Given the description of an element on the screen output the (x, y) to click on. 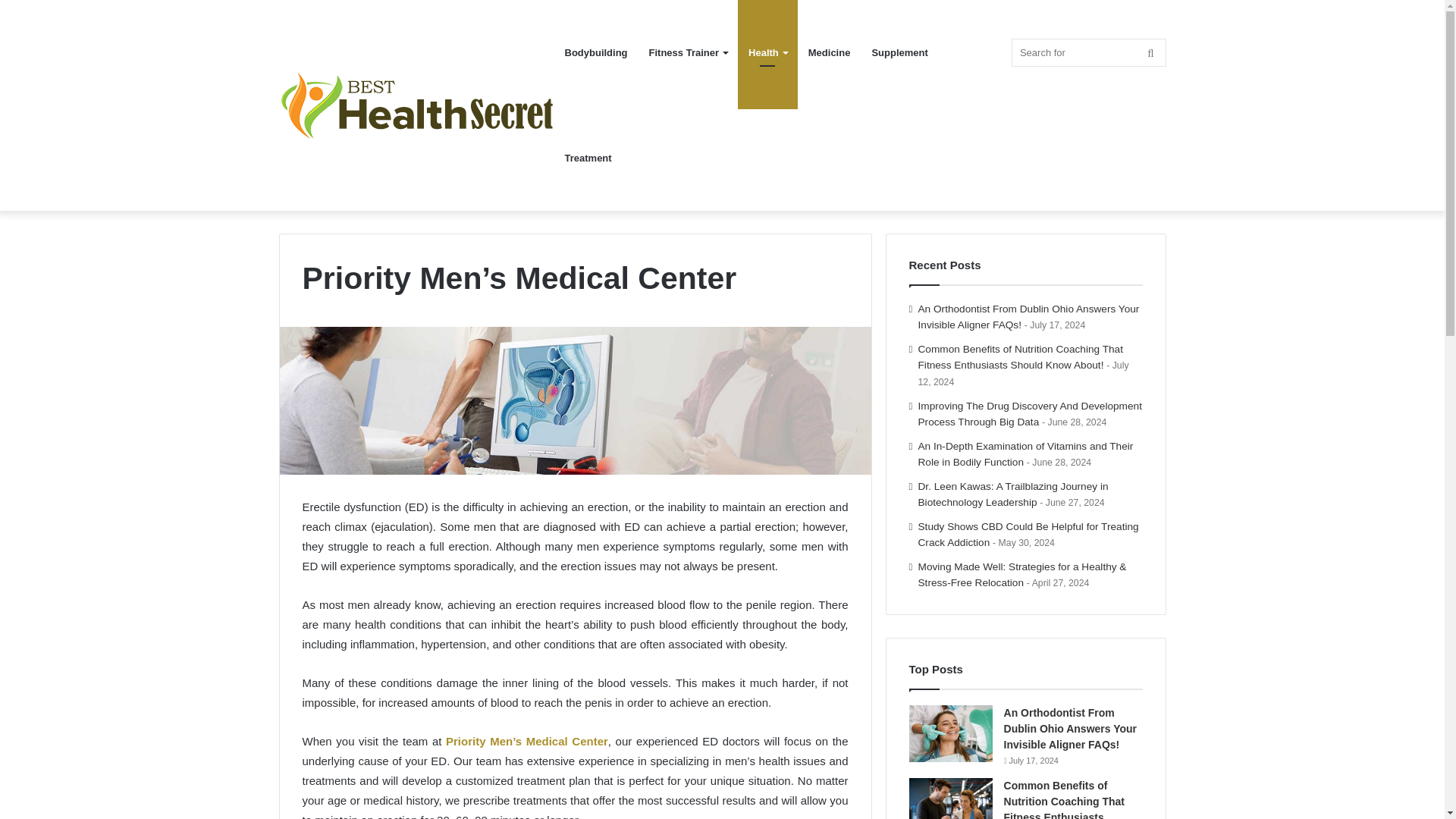
Search for (1088, 52)
Fitness Trainer (688, 52)
Best Health Secret : Explore health and fitness tips (416, 105)
